Given the description of an element on the screen output the (x, y) to click on. 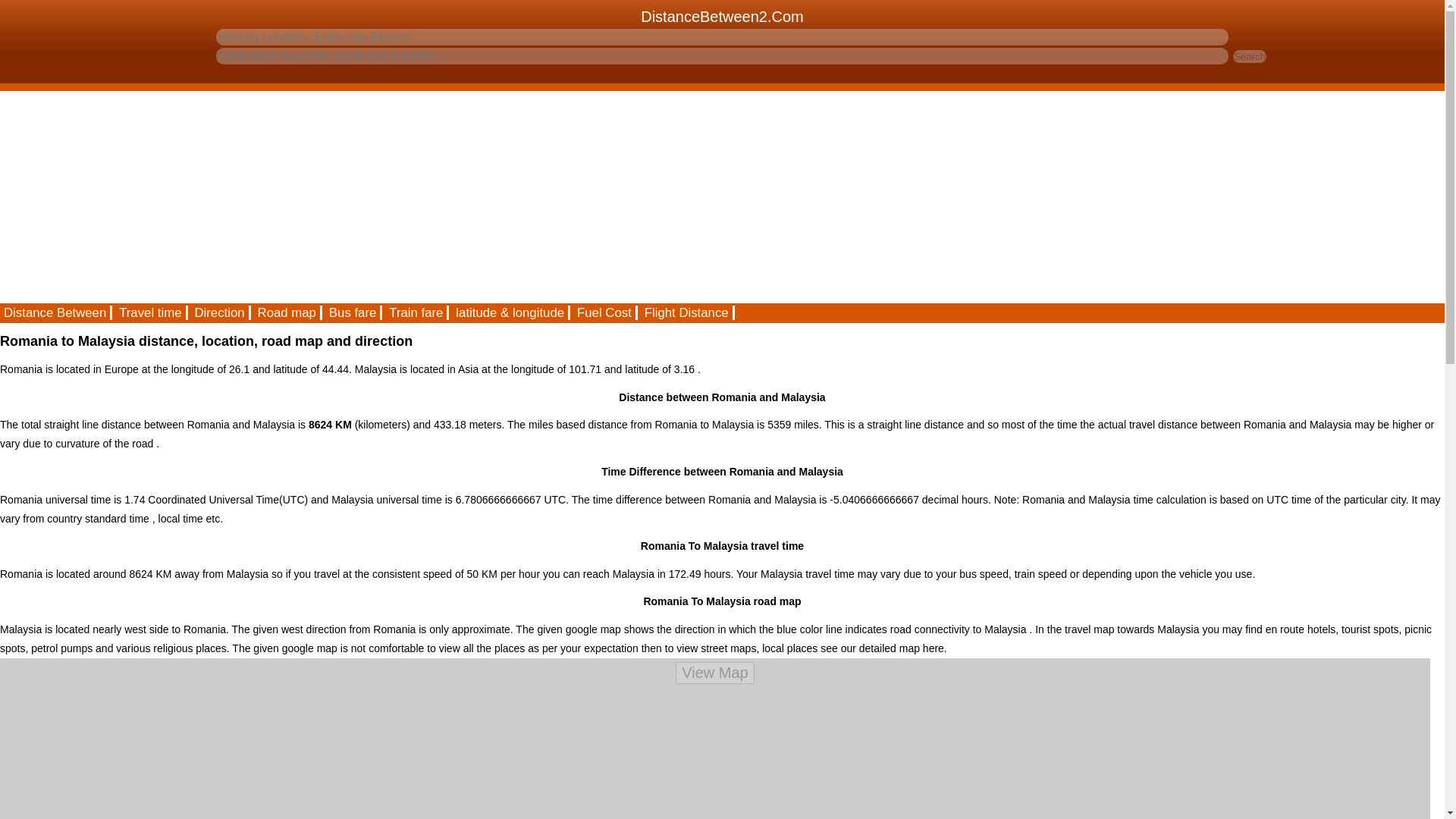
Train fare (416, 312)
Travel time (151, 312)
Search (1249, 56)
Bus fare (353, 312)
Road map (287, 312)
driving direction (220, 312)
Distance Between (56, 312)
Direction (220, 312)
View Map (714, 672)
Fuel Cost (605, 312)
Flight Distance (687, 312)
Search (1249, 56)
